Given the description of an element on the screen output the (x, y) to click on. 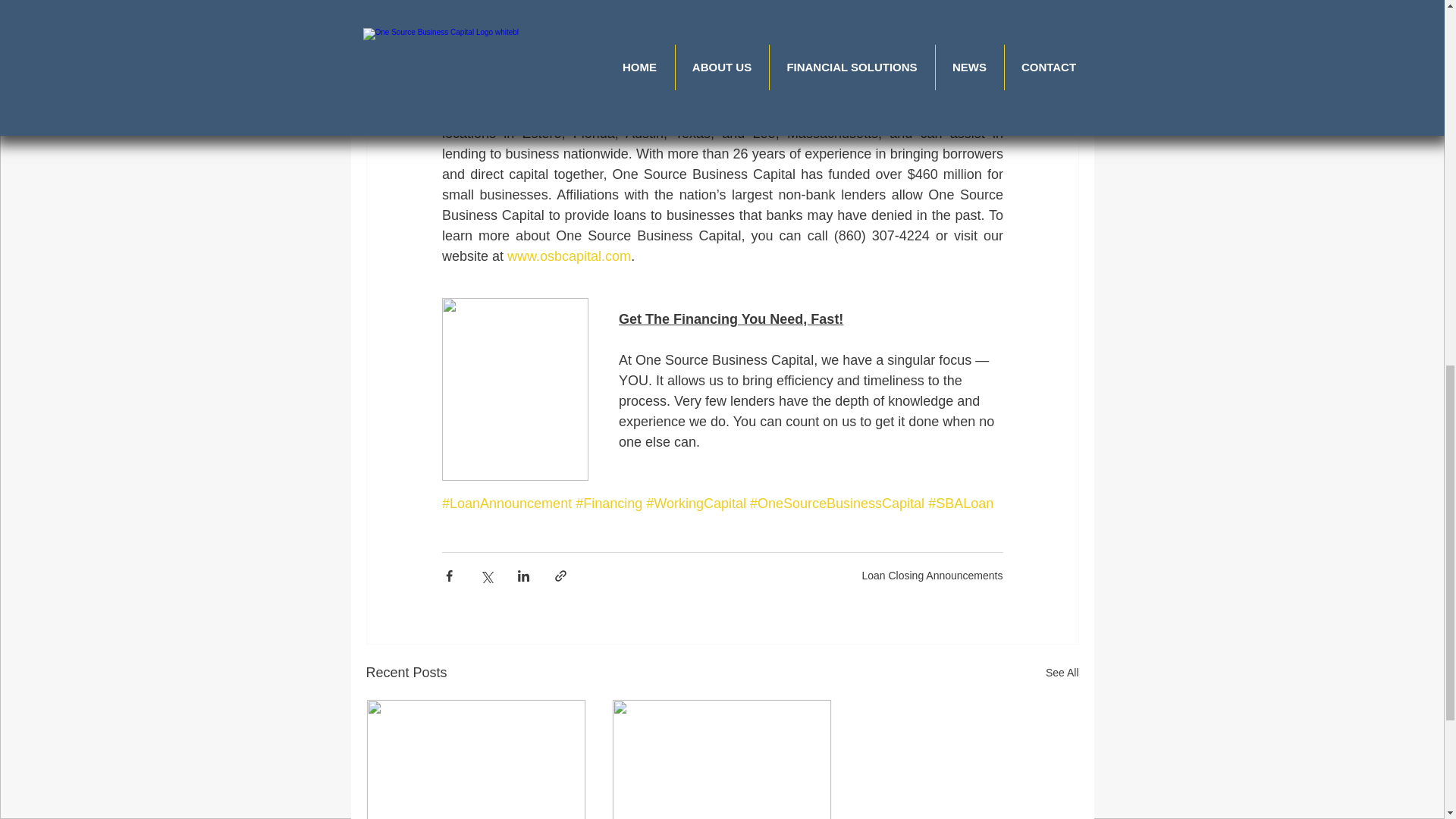
www.osbcapital.com (568, 255)
Loan Closing Announcements (932, 574)
See All (1061, 672)
